Given the description of an element on the screen output the (x, y) to click on. 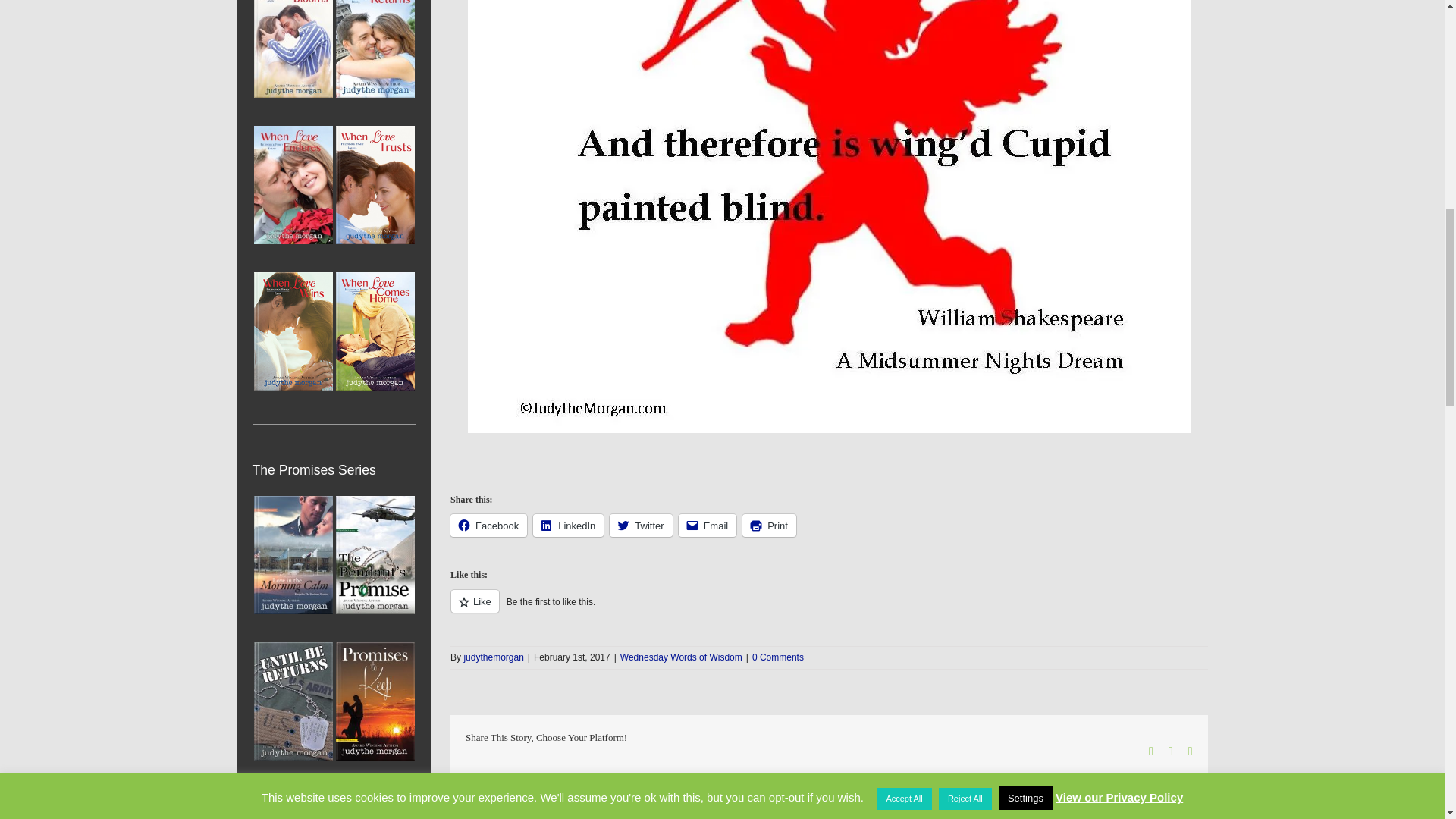
judythemorgan (492, 656)
Like or Reblog (828, 609)
0 Comments (777, 656)
Print (769, 525)
Email (707, 525)
LinkedIn (568, 525)
Facebook (488, 525)
Click to share on Twitter (640, 525)
Click to share on LinkedIn (568, 525)
Posts by judythemorgan (492, 656)
Click to share on Facebook (488, 525)
Click to email a link to a friend (707, 525)
Twitter (640, 525)
Facebook (1150, 751)
X (1171, 751)
